Given the description of an element on the screen output the (x, y) to click on. 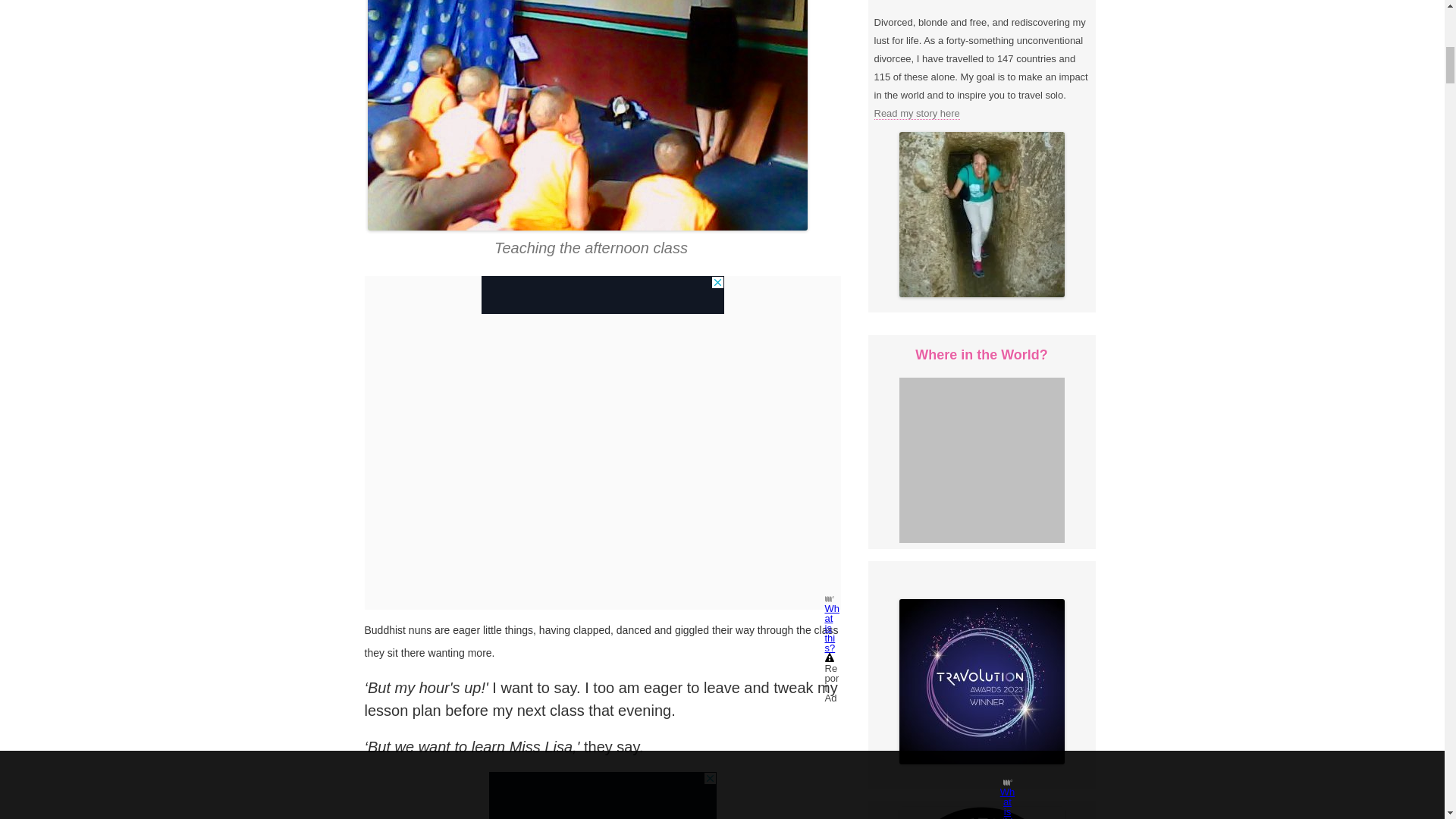
About Girl about the Globe (916, 113)
3rd party ad content (601, 294)
3rd party ad content (601, 795)
